Given the description of an element on the screen output the (x, y) to click on. 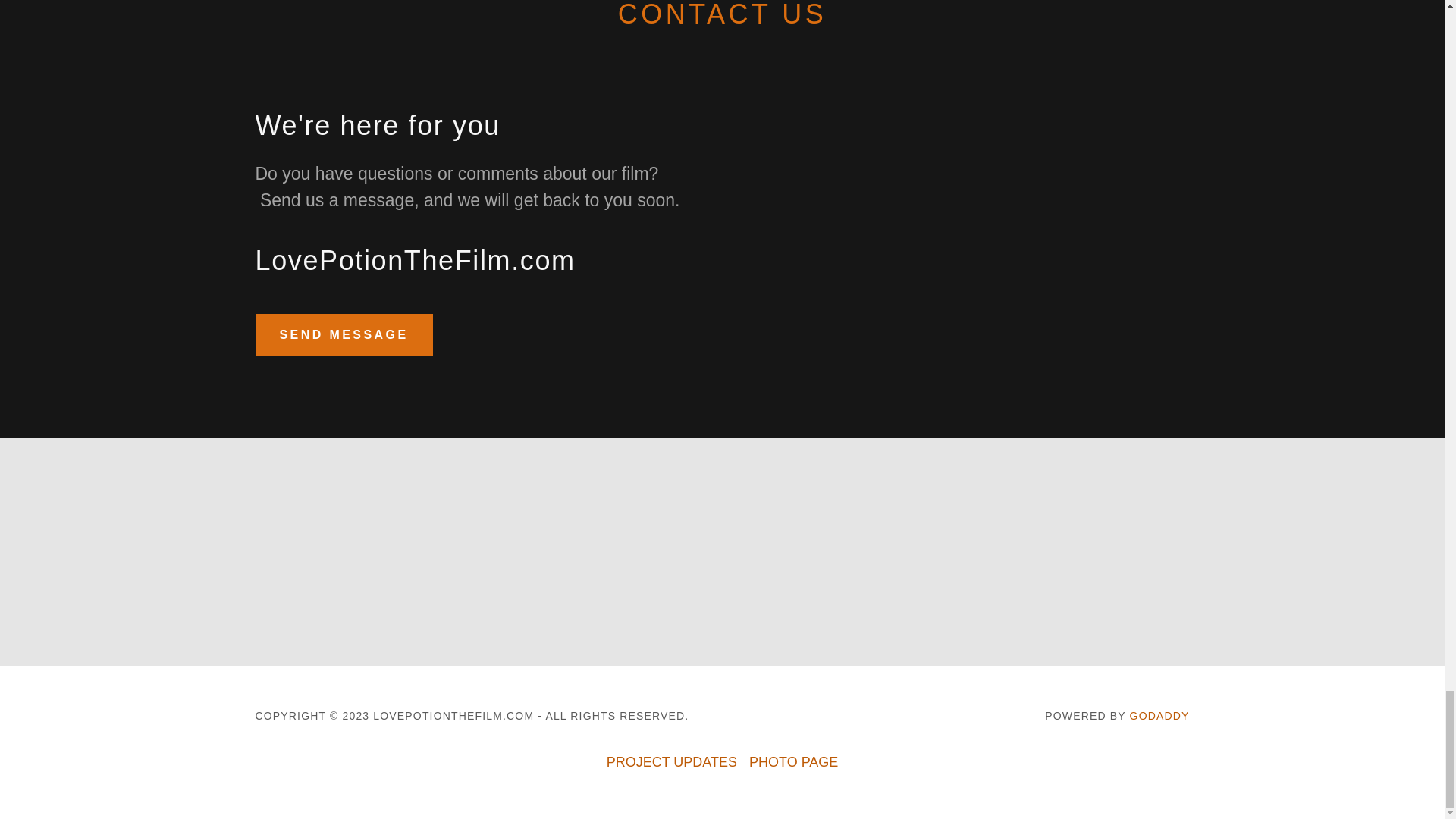
PROJECT UPDATES (670, 762)
SEND MESSAGE (343, 334)
GODADDY (1159, 715)
PHOTO PAGE (793, 762)
